Given the description of an element on the screen output the (x, y) to click on. 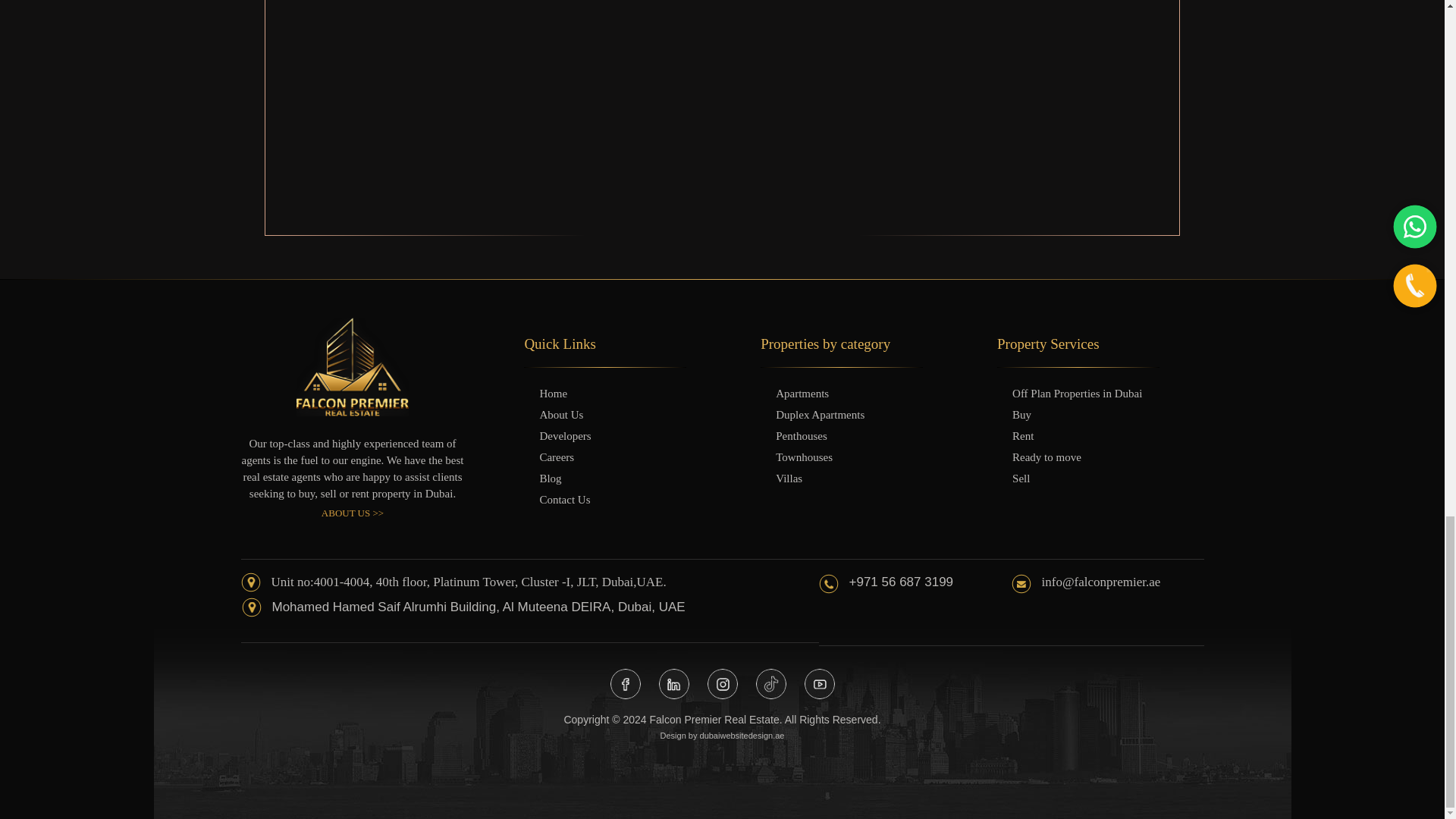
LinkedIn (673, 684)
YouTube (818, 684)
facebook (625, 684)
Instagram (721, 684)
Tiktok (770, 684)
